Given the description of an element on the screen output the (x, y) to click on. 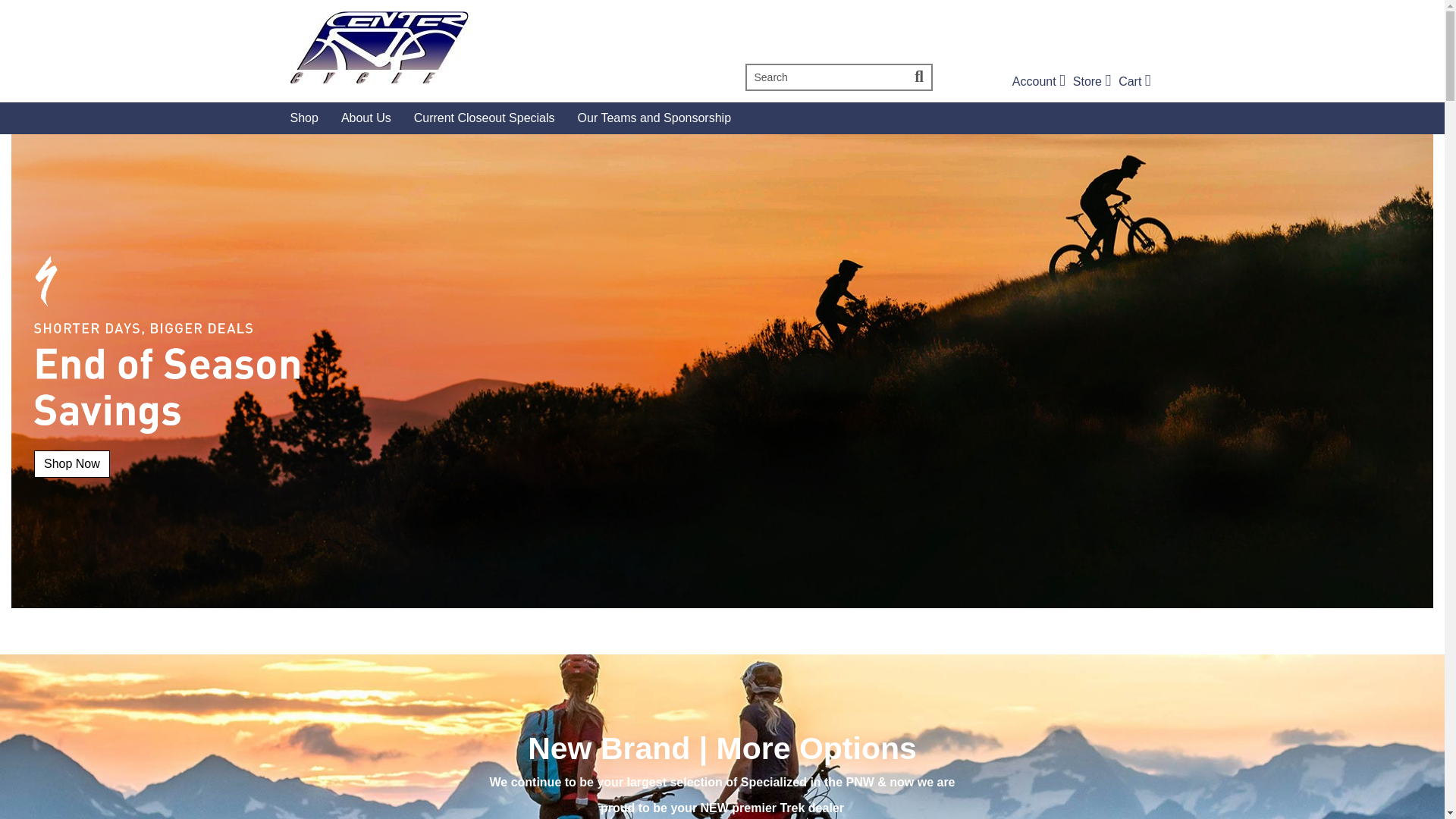
Account (1038, 81)
Center Cycle Home Page (1038, 81)
Cart (499, 47)
Store (1134, 81)
Search (1091, 81)
Search (1134, 81)
Shop (1091, 81)
